Given the description of an element on the screen output the (x, y) to click on. 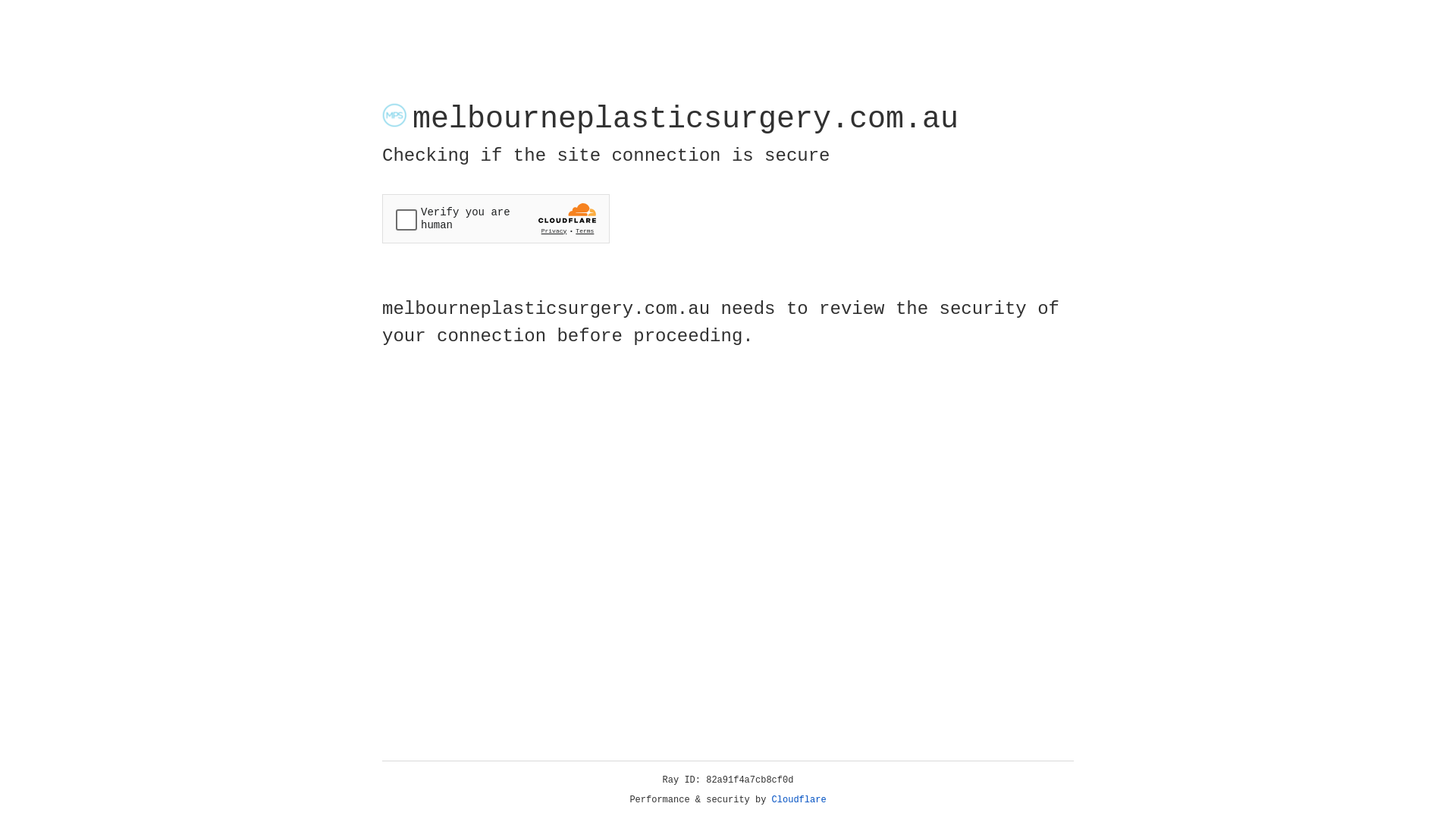
Widget containing a Cloudflare security challenge Element type: hover (495, 218)
Cloudflare Element type: text (798, 799)
